Given the description of an element on the screen output the (x, y) to click on. 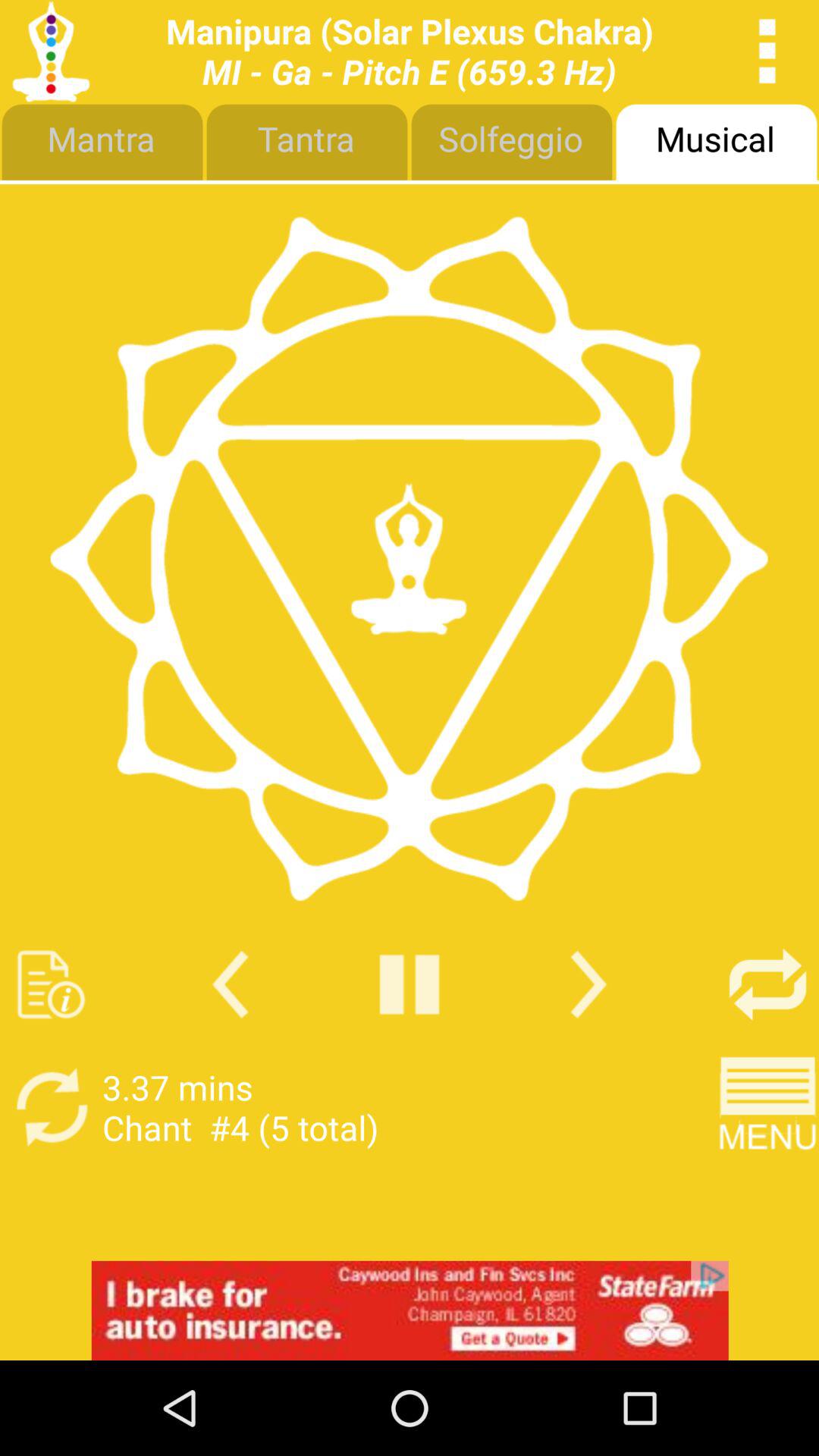
go to next (588, 984)
